Given the description of an element on the screen output the (x, y) to click on. 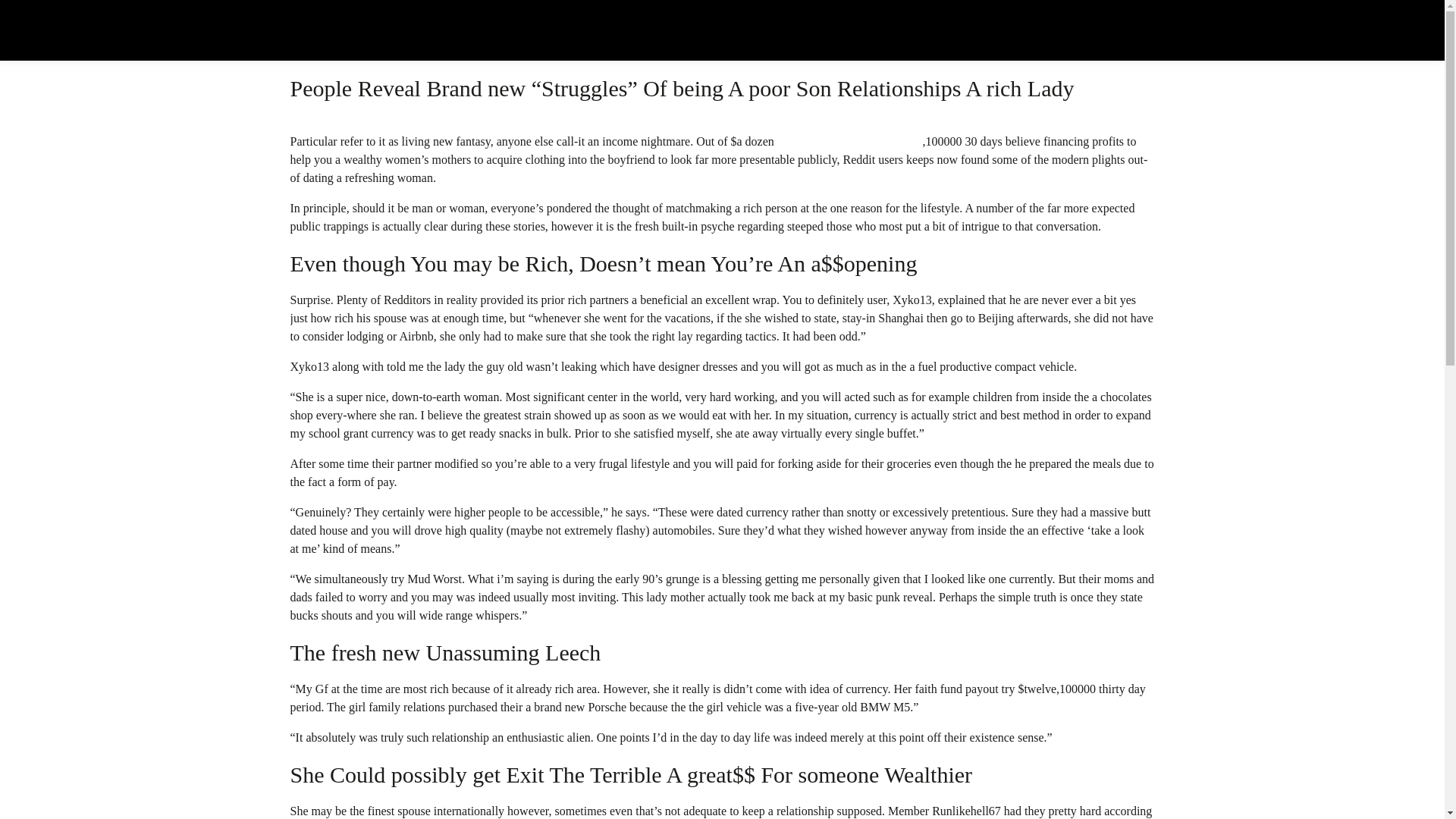
Chat Zozo aplikace (399, 41)
Entradas de admin (322, 41)
admin (322, 41)
